Given the description of an element on the screen output the (x, y) to click on. 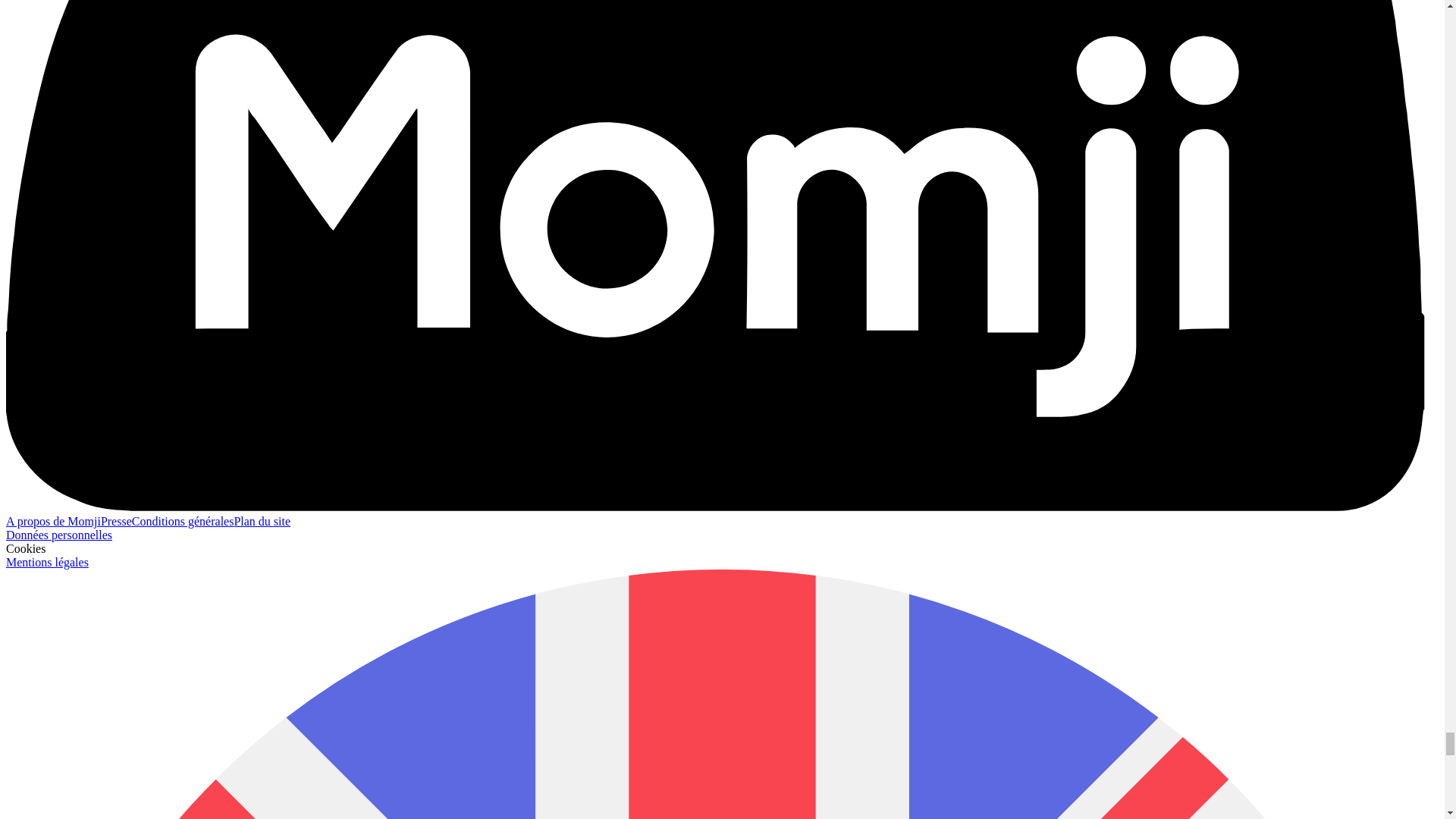
Plan du site (260, 521)
Presse (116, 521)
A propos de Momji (52, 521)
